Given the description of an element on the screen output the (x, y) to click on. 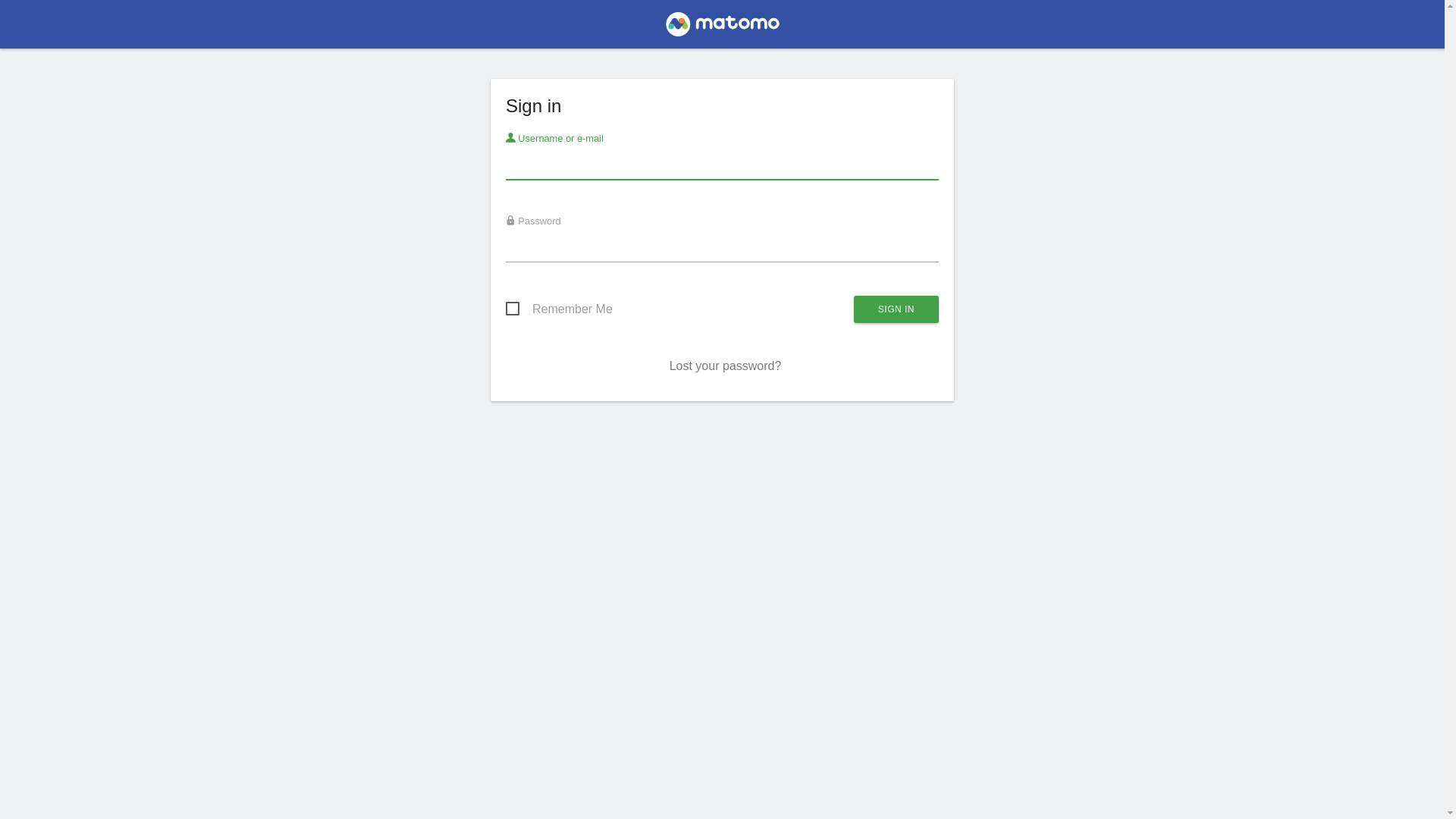
Lost your password? Element type: text (725, 365)
Sign in Element type: text (895, 309)
Matomo # free/libre analytics platform Element type: hover (722, 27)
